Given the description of an element on the screen output the (x, y) to click on. 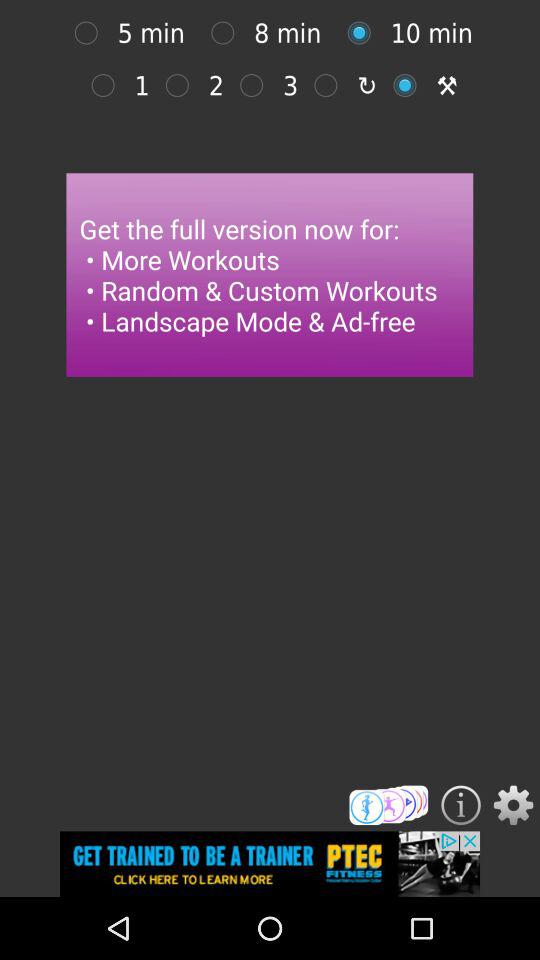
replay (330, 85)
